Given the description of an element on the screen output the (x, y) to click on. 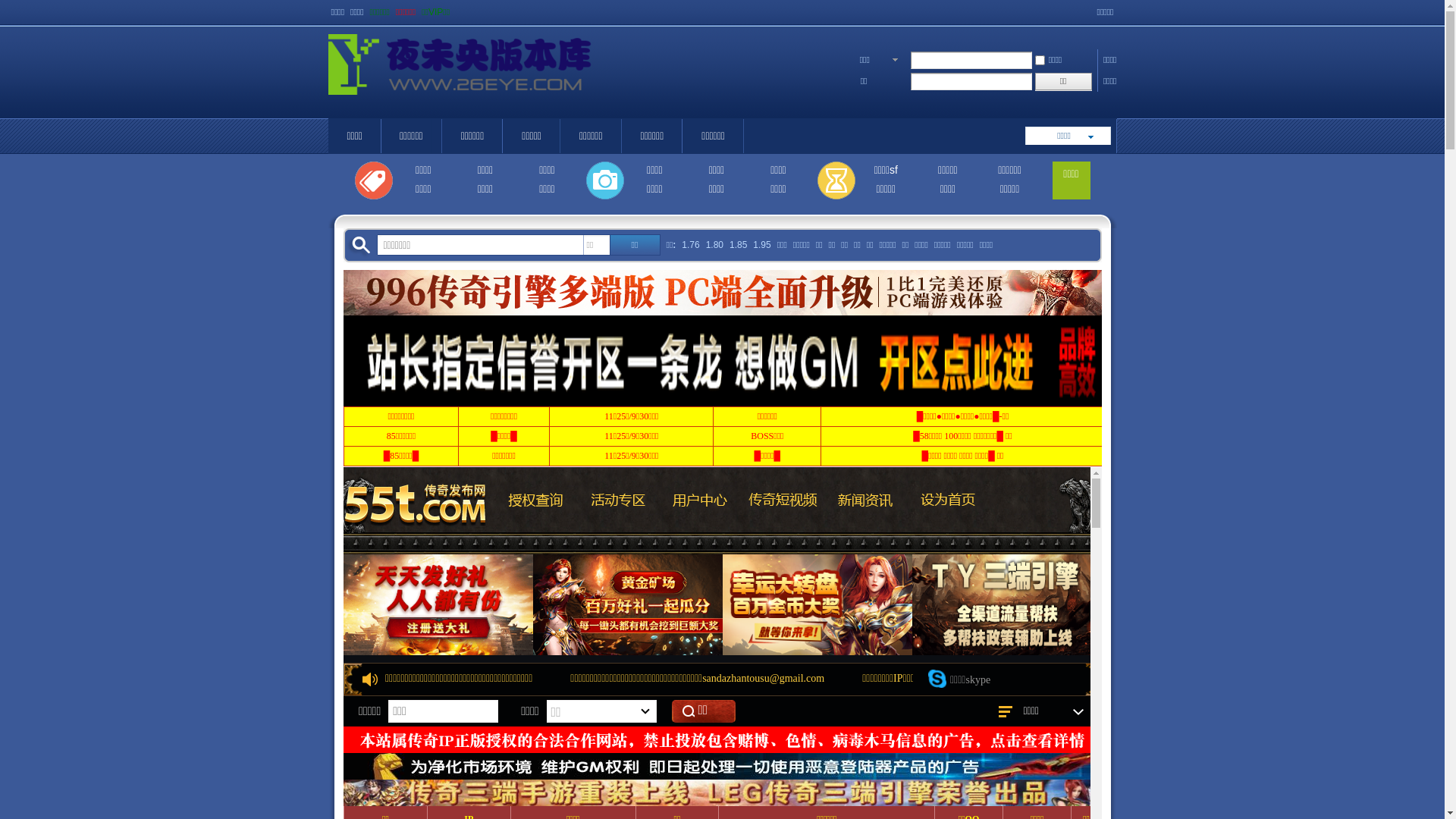
1.80 Element type: text (714, 245)
1.95 Element type: text (761, 245)
1.85 Element type: text (737, 245)
1.76 Element type: text (690, 245)
